Given the description of an element on the screen output the (x, y) to click on. 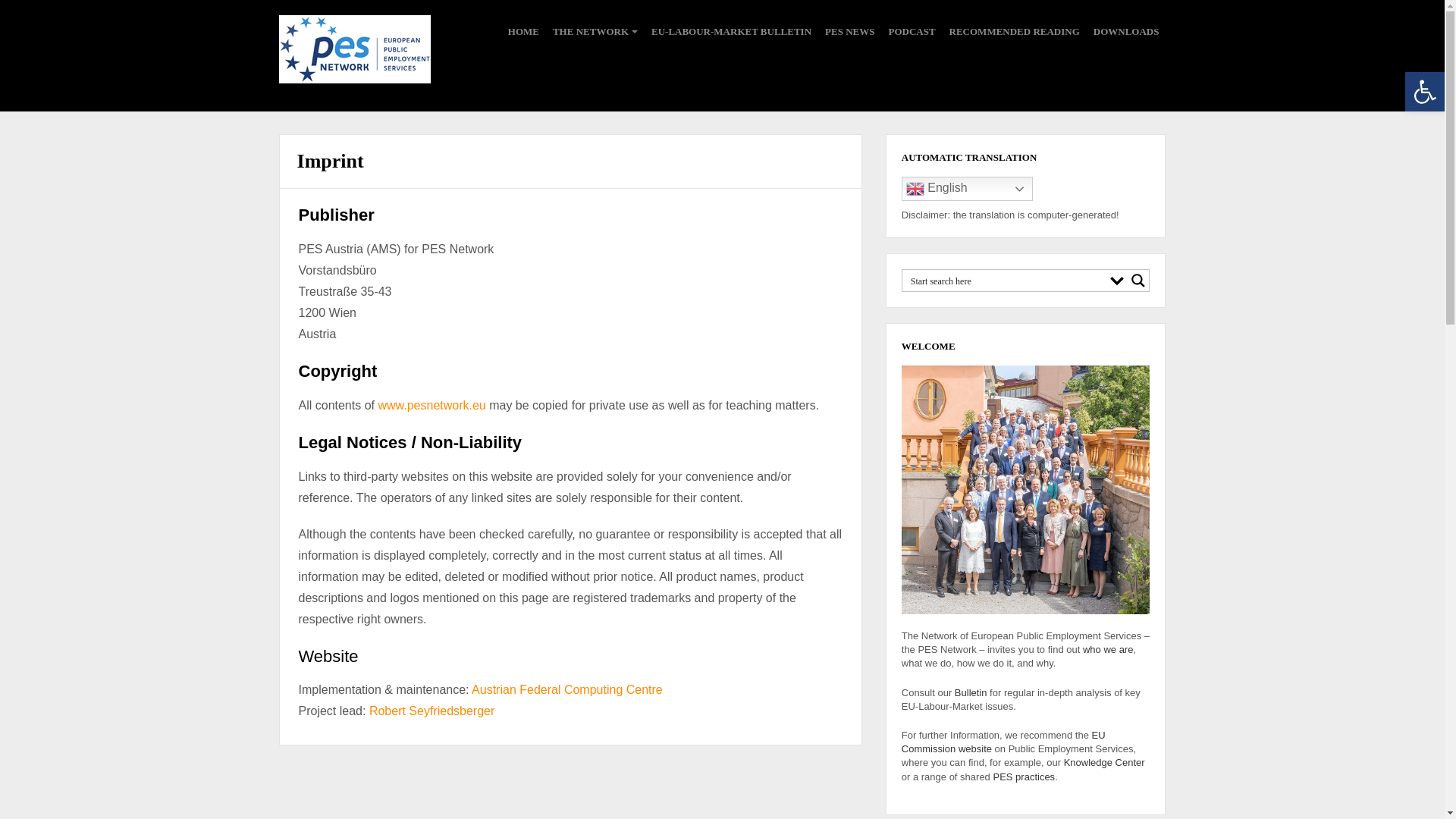
PES NEWS (850, 31)
DOWNLOADS (1125, 31)
EU-LABOUR-MARKET BULLETIN (730, 31)
www.pesnetwork.eu (430, 404)
RECOMMENDED READING (1014, 31)
HOME (523, 31)
Austrian Federal Computing Centre (566, 689)
THE NETWORK (595, 31)
PODCAST (911, 31)
Robert Seyfriedsberger (432, 710)
